Given the description of an element on the screen output the (x, y) to click on. 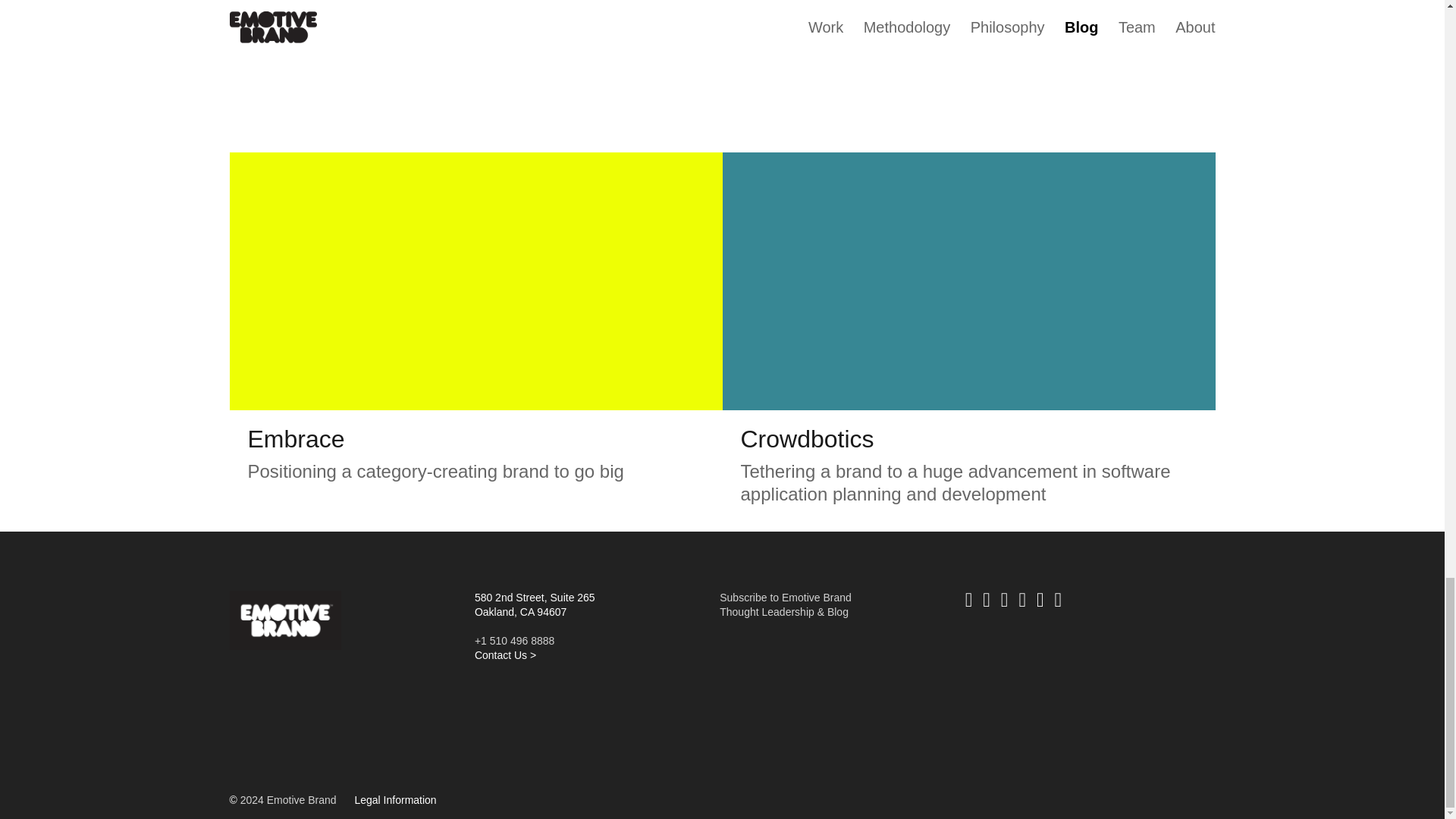
Submit Comment (876, 21)
Submit Comment (876, 21)
Form 0 (833, 708)
